Given the description of an element on the screen output the (x, y) to click on. 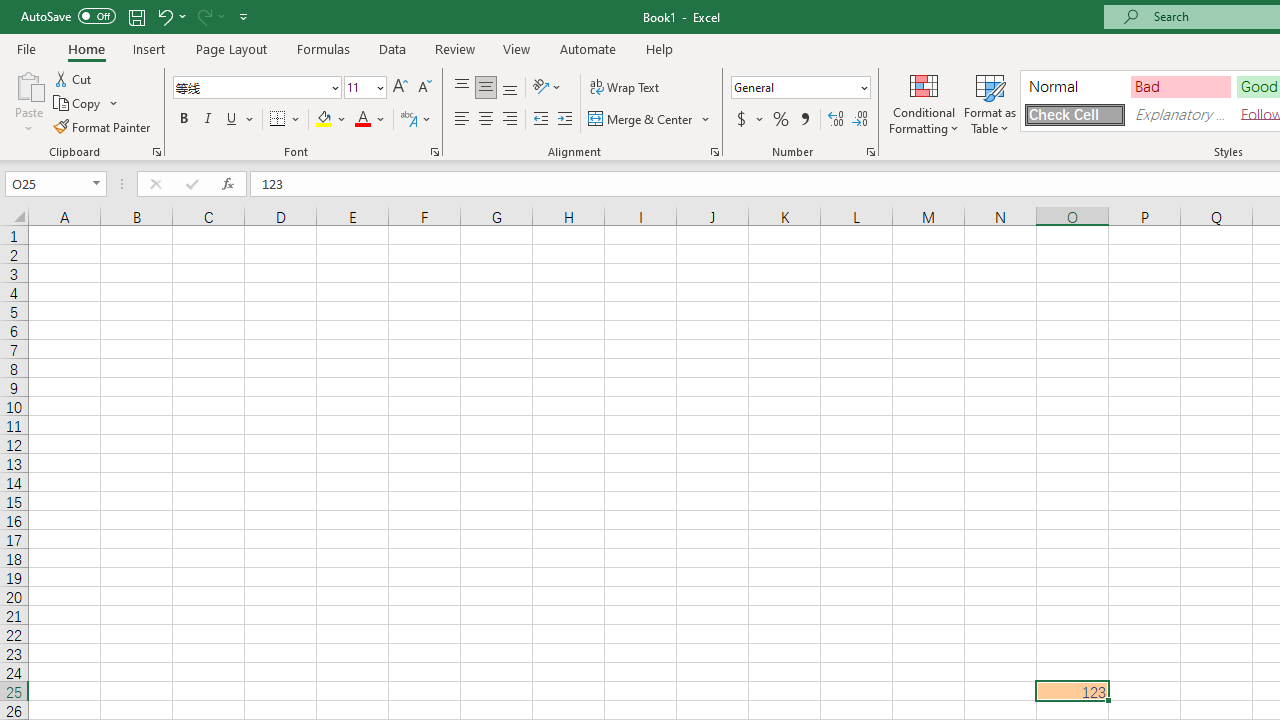
Middle Align (485, 87)
Merge & Center (641, 119)
Check Cell (1074, 114)
Font Size (358, 87)
Conditional Formatting (924, 102)
Show Phonetic Field (416, 119)
Accounting Number Format (749, 119)
Increase Font Size (399, 87)
Bad (1180, 86)
Format Cell Alignment (714, 151)
Font (250, 87)
